Given the description of an element on the screen output the (x, y) to click on. 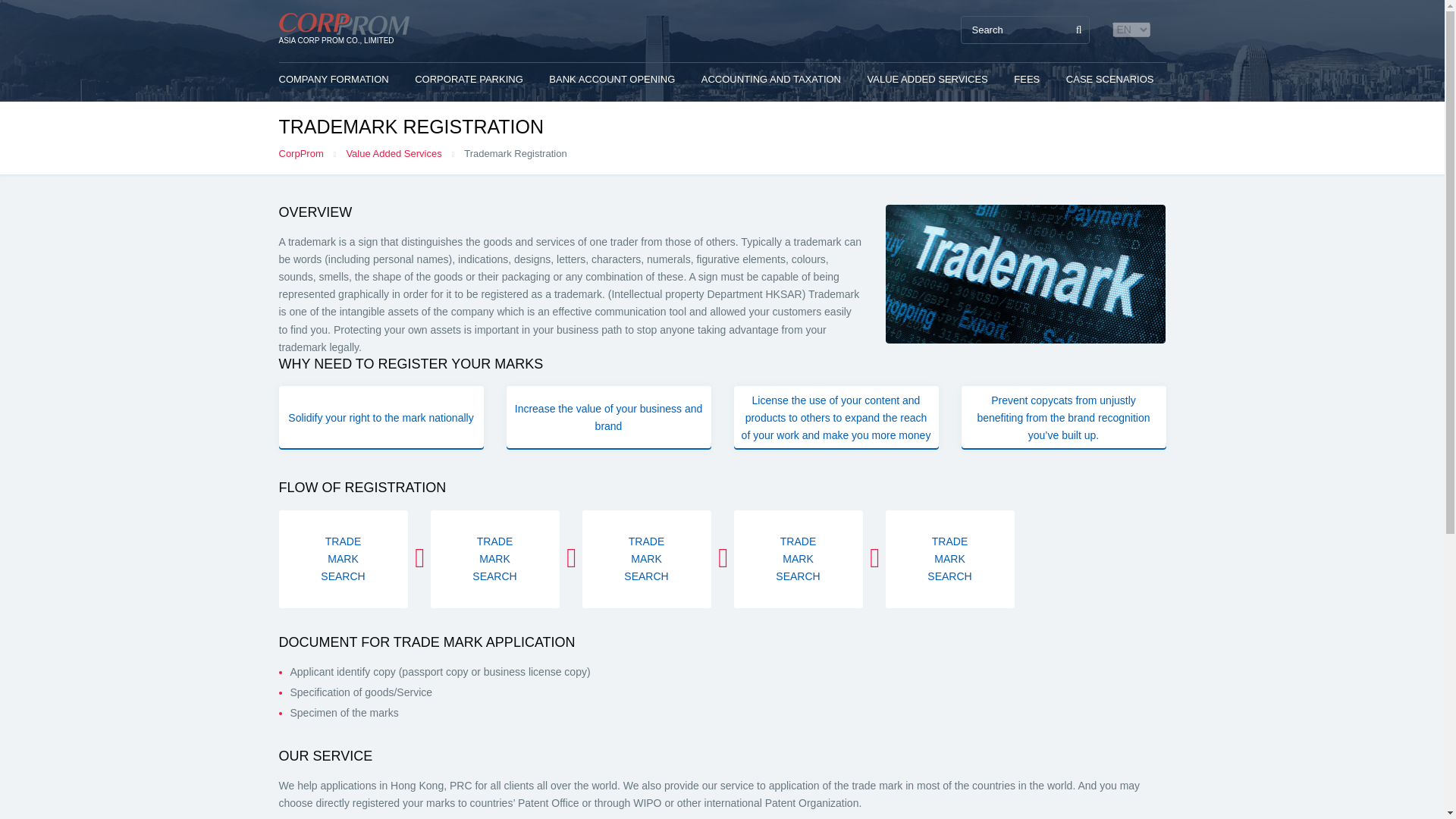
BANK ACCOUNT OPENING (617, 78)
ACCOUNTING AND TAXATION (777, 78)
CASE SCENARIOS (1115, 78)
CorpProm (312, 153)
ASIA CORP PROM CO., LIMITED (343, 30)
Value Added Services (405, 153)
FEES (1032, 78)
Go to Value Added Services. (405, 153)
CORPORATE PARKING (474, 78)
COMPANY FORMATION (340, 78)
VALUE ADDED SERVICES (933, 78)
